Given the description of an element on the screen output the (x, y) to click on. 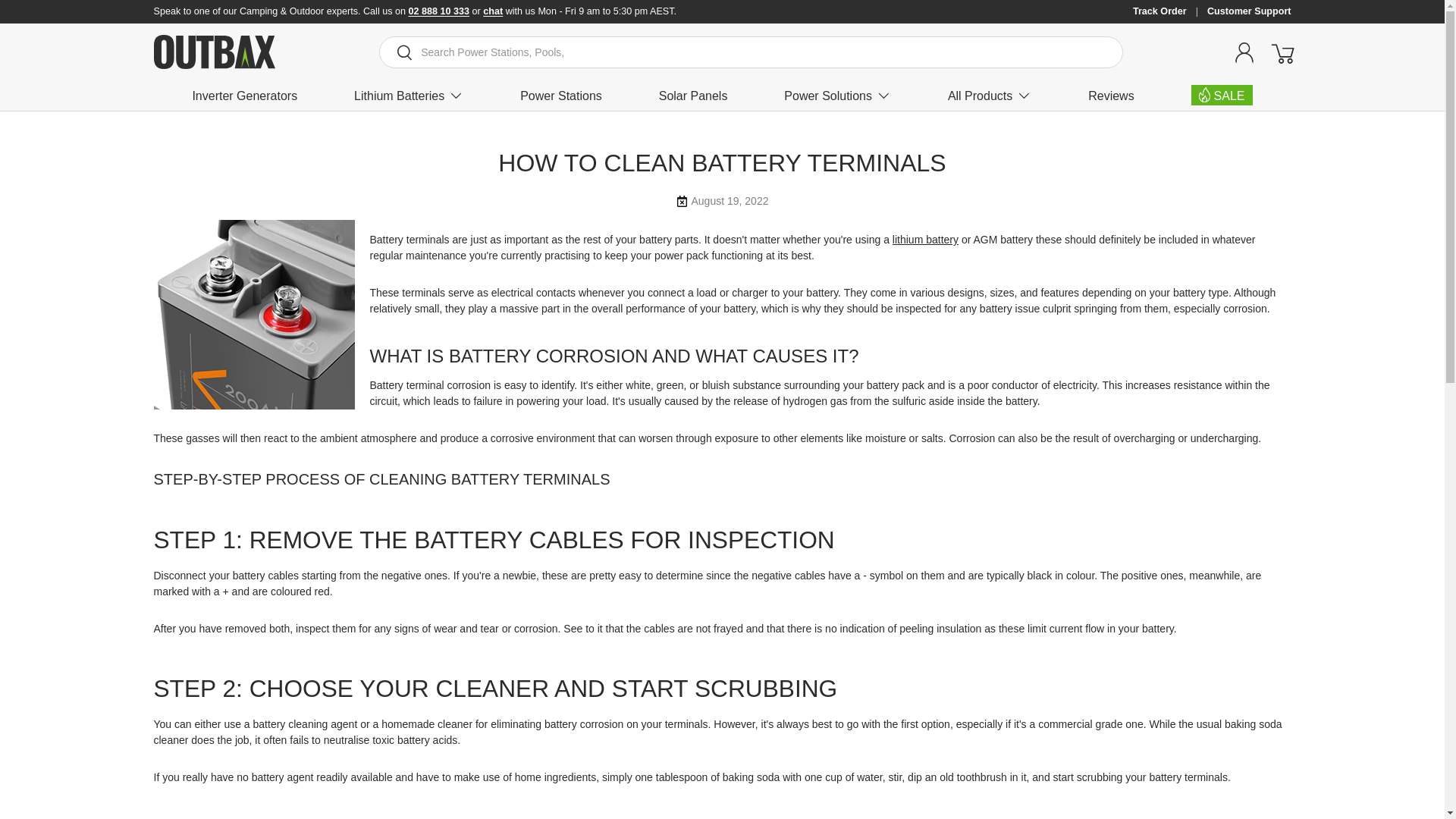
Solar Panels (693, 96)
Lithium Batteries (408, 95)
Search (395, 53)
All Products (988, 95)
Inverter Generators (244, 96)
Power Stations (560, 96)
chat (492, 10)
Skip to content (69, 21)
02 888 10 333 (439, 10)
tel:0288810333 (439, 10)
